Given the description of an element on the screen output the (x, y) to click on. 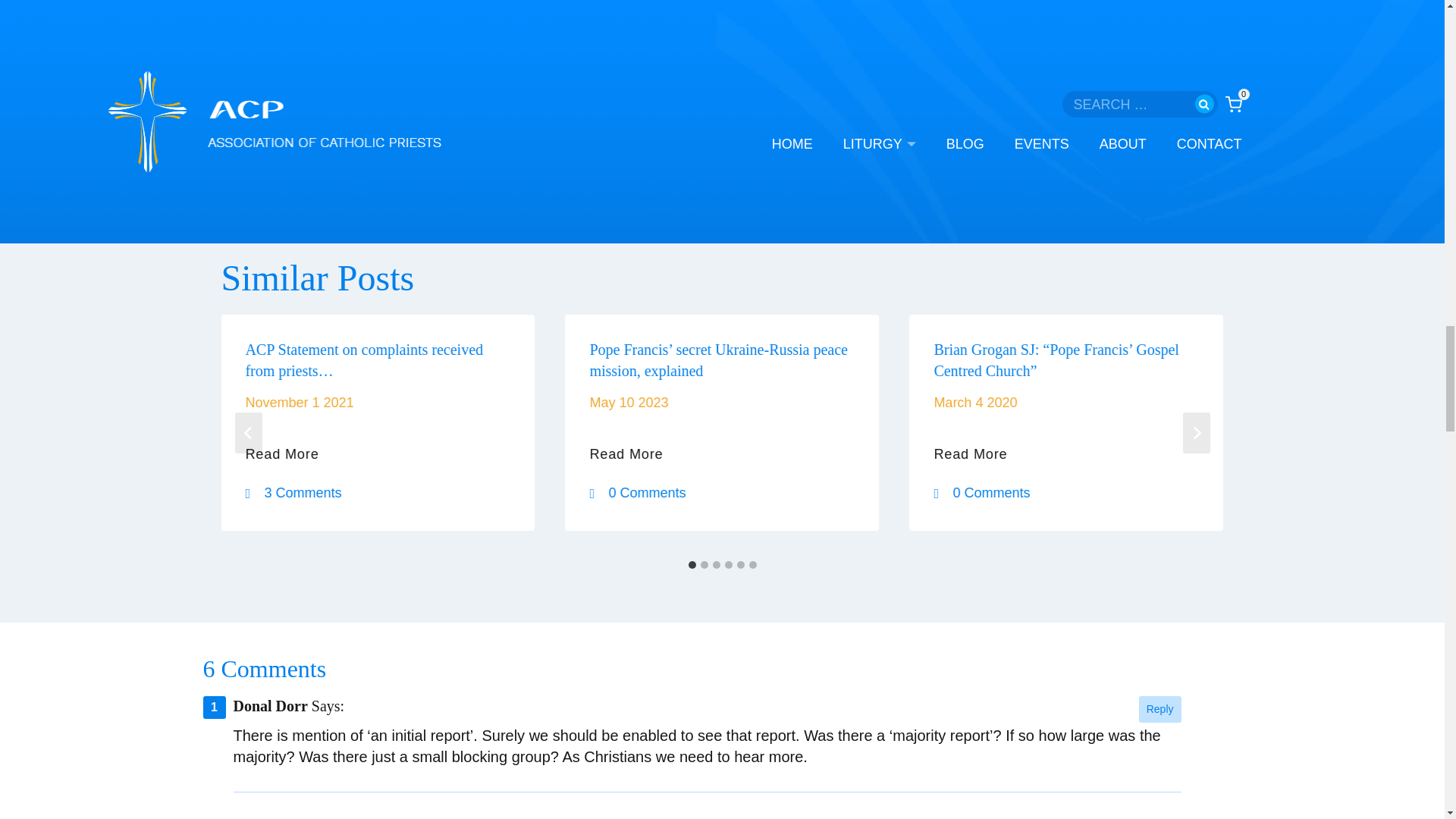
3 Comments (296, 492)
0 Comments (641, 492)
0 Comments (984, 492)
